Given the description of an element on the screen output the (x, y) to click on. 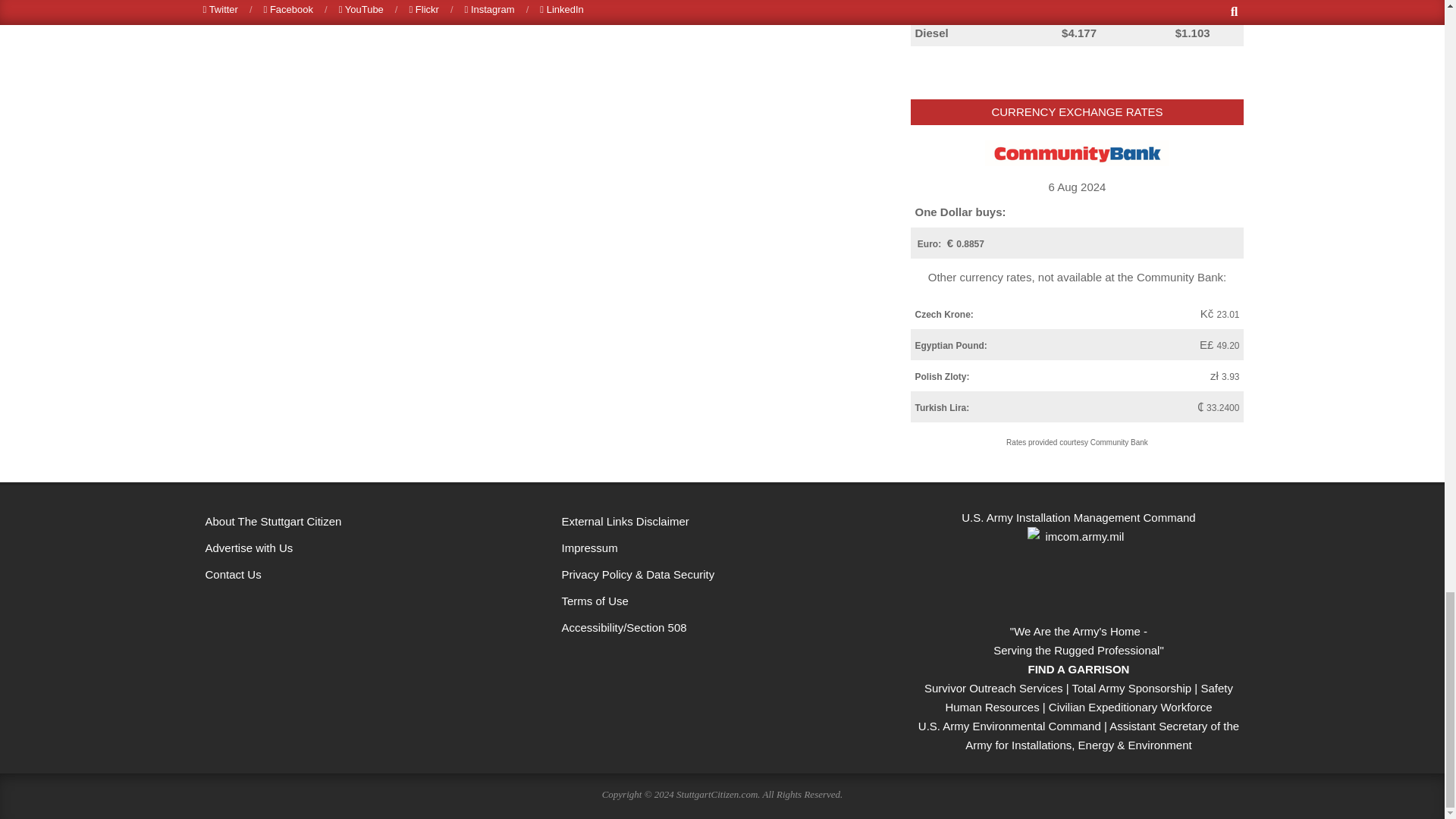
Opens in a new window (721, 627)
